Given the description of an element on the screen output the (x, y) to click on. 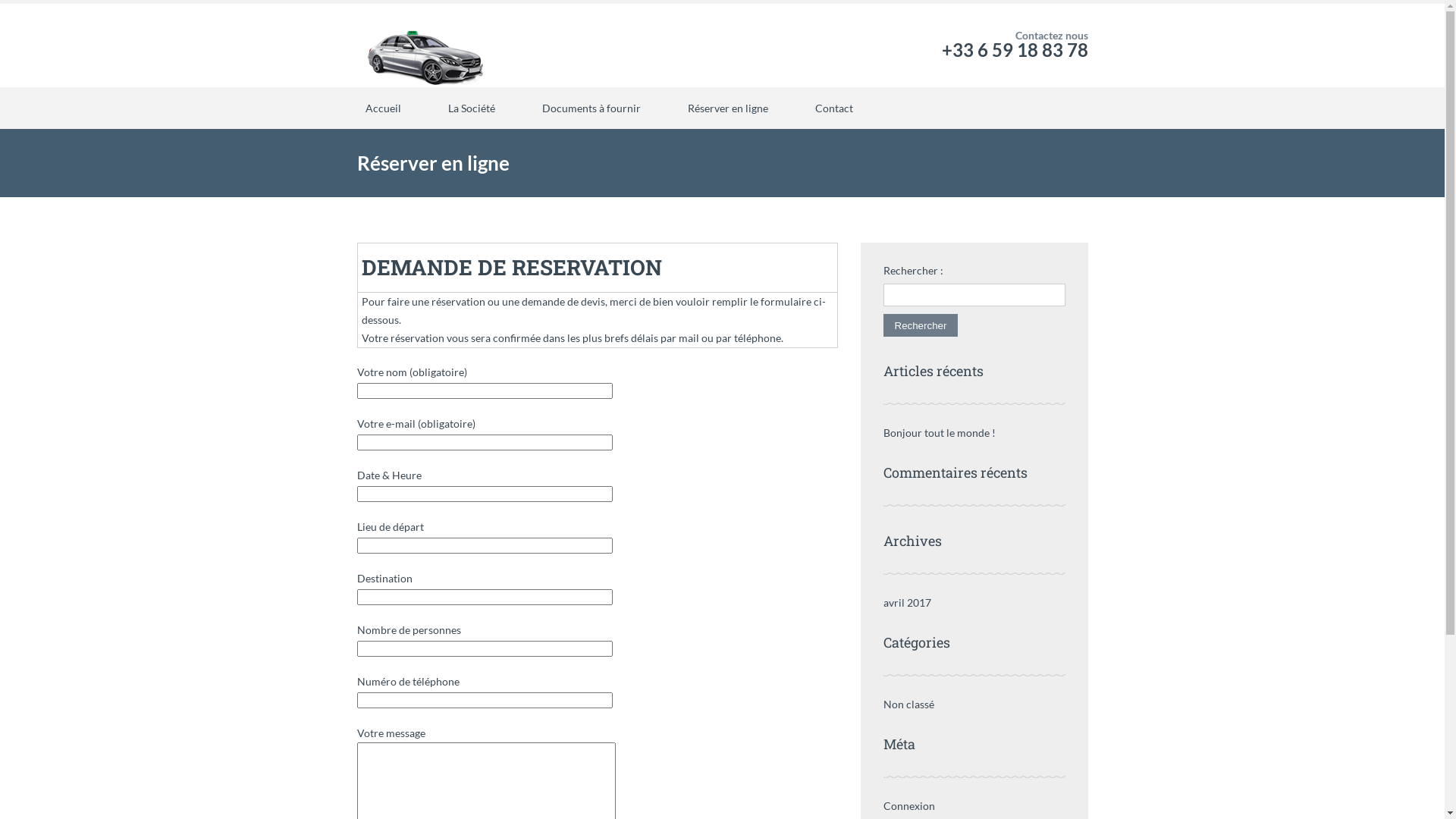
Contact Element type: text (833, 108)
Bonjour tout le monde ! Element type: text (938, 432)
avril 2017 Element type: text (906, 602)
+33 6 59 18 83 78 Element type: text (1014, 49)
Rechercher Element type: text (919, 324)
Accueil Element type: text (382, 108)
Connexion Element type: text (908, 805)
